Given the description of an element on the screen output the (x, y) to click on. 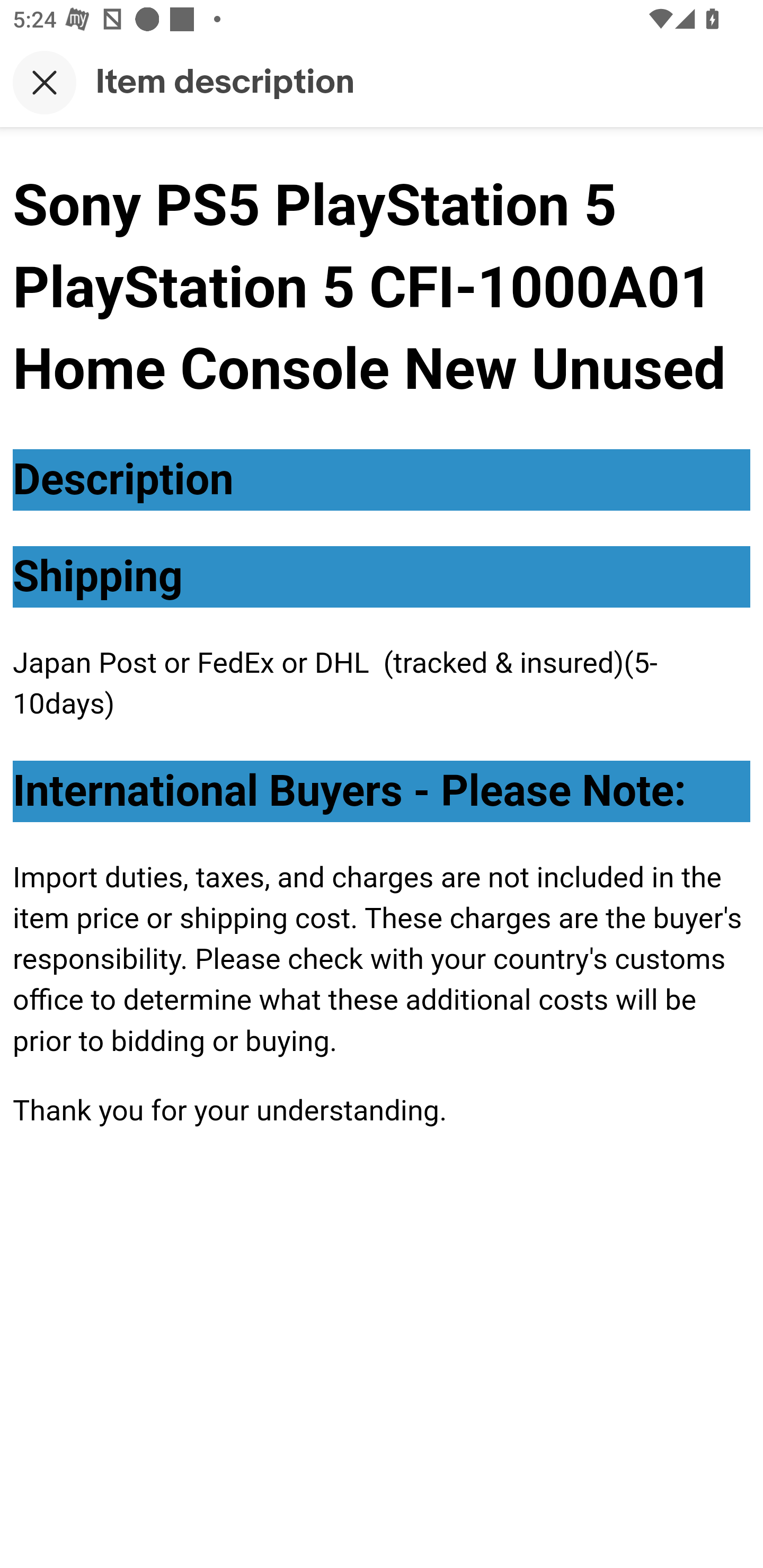
Close (44, 82)
